Given the description of an element on the screen output the (x, y) to click on. 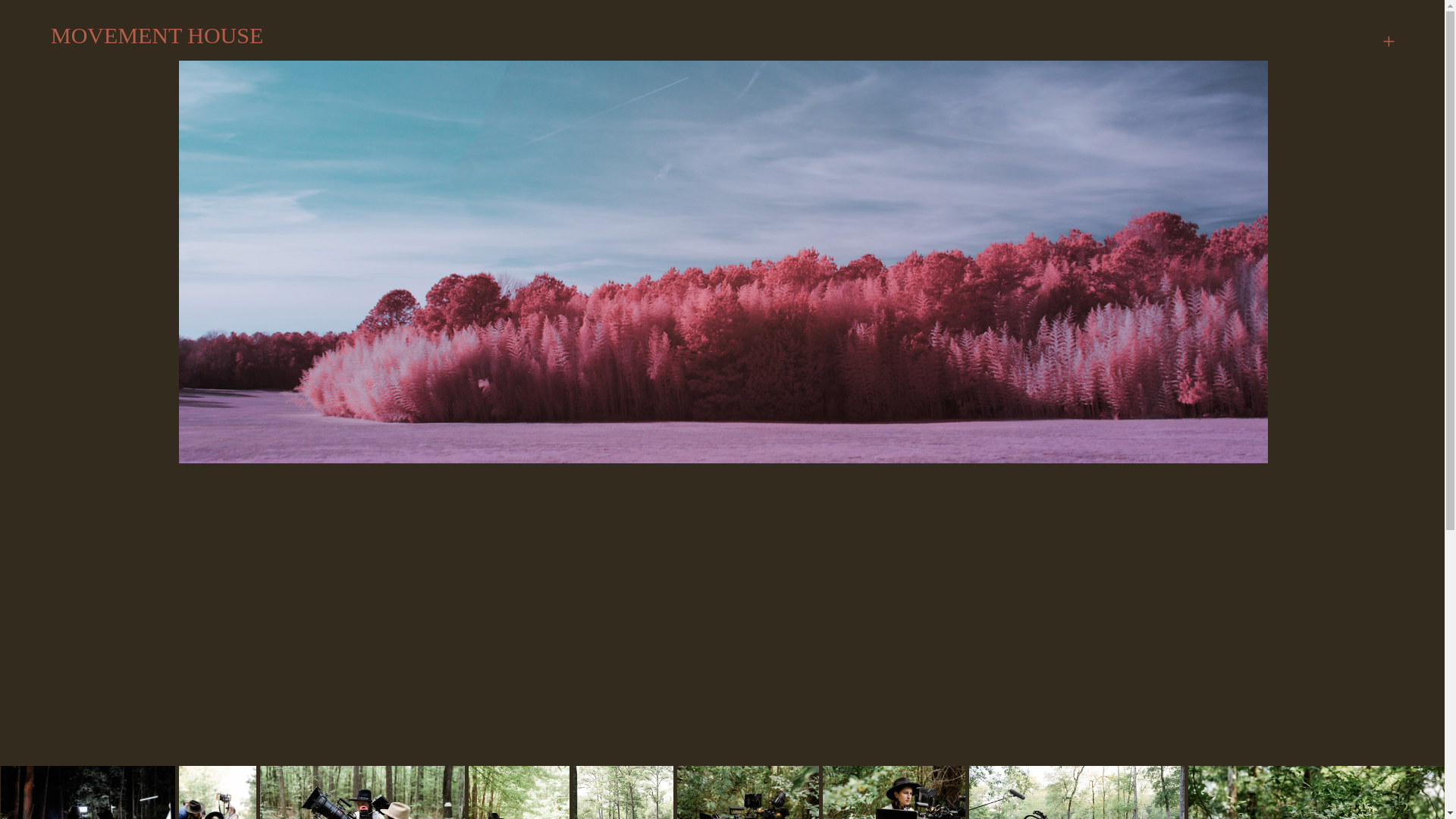
MOVEMENT HOUSE (173, 35)
